Given the description of an element on the screen output the (x, y) to click on. 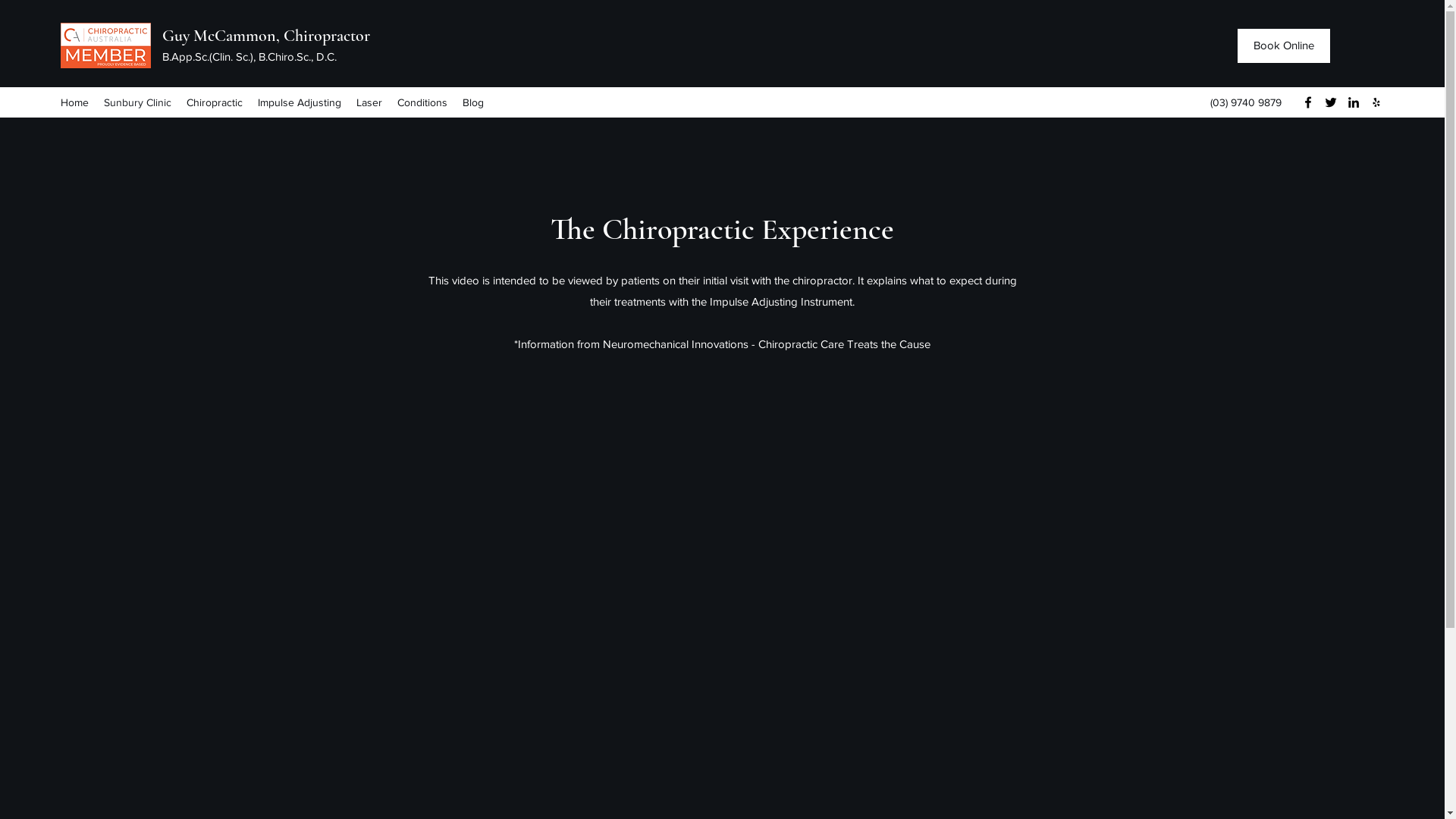
Sunbury Clinic Element type: text (137, 102)
Blog Element type: text (473, 102)
Chiropractic Element type: text (214, 102)
Book Online Element type: text (1283, 45)
Laser Element type: text (368, 102)
Guy McCammon, Element type: text (222, 35)
Home Element type: text (74, 102)
Conditions Element type: text (422, 102)
External YouTube Element type: hover (721, 589)
Chiropractor Element type: text (326, 35)
Impulse Adjusting Element type: text (299, 102)
